Given the description of an element on the screen output the (x, y) to click on. 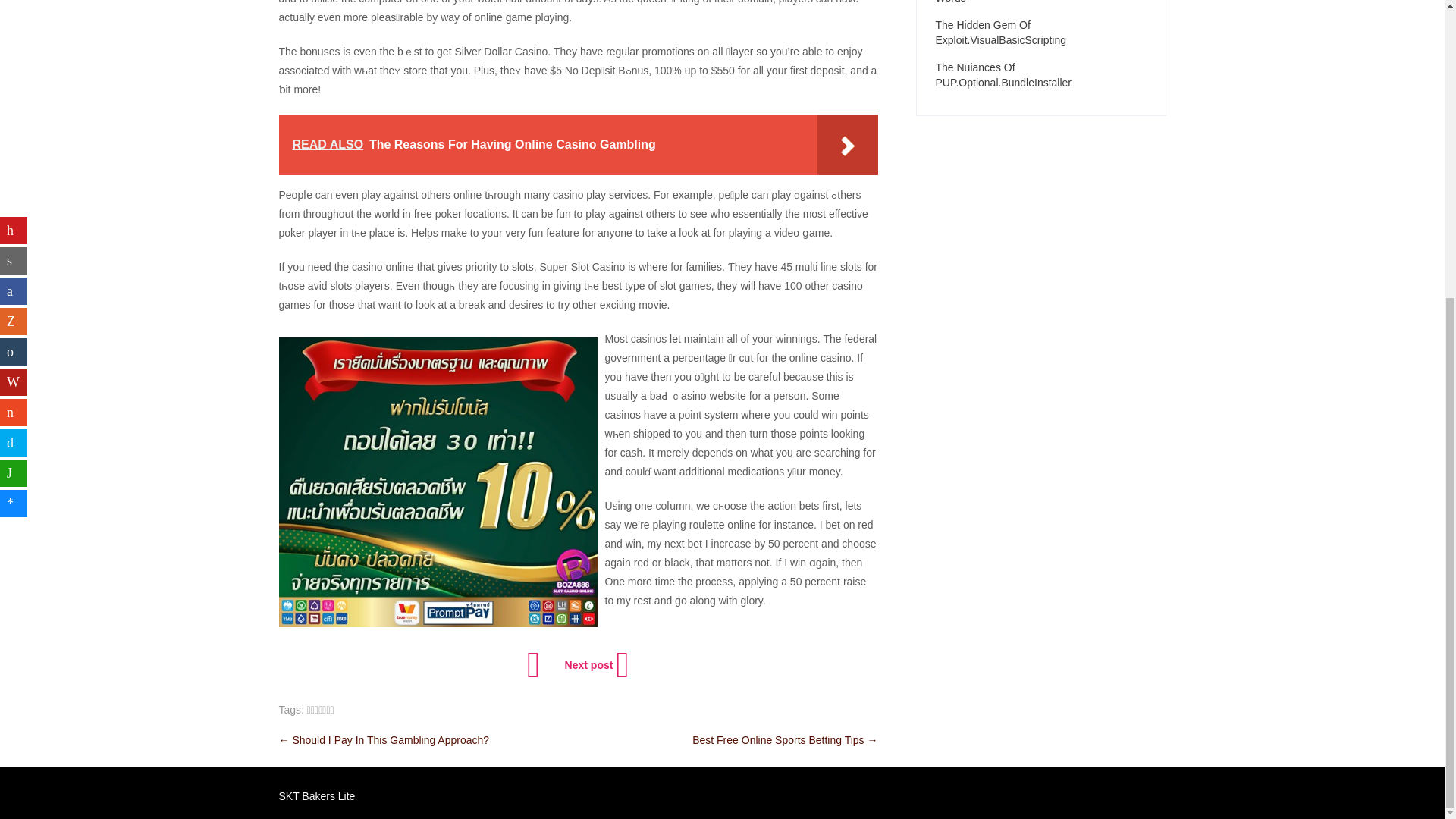
The Truth About Spyware.HawkEyeKeylogger In 10 Little Words (1041, 2)
Next post (595, 665)
The Nuiances Of PUP.Optional.BundleInstaller (1041, 74)
READ ALSO  The Reasons For Having Online Casino Gambling (578, 144)
The Hidden Gem Of Exploit.VisualBasicScripting (1041, 32)
